Given the description of an element on the screen output the (x, y) to click on. 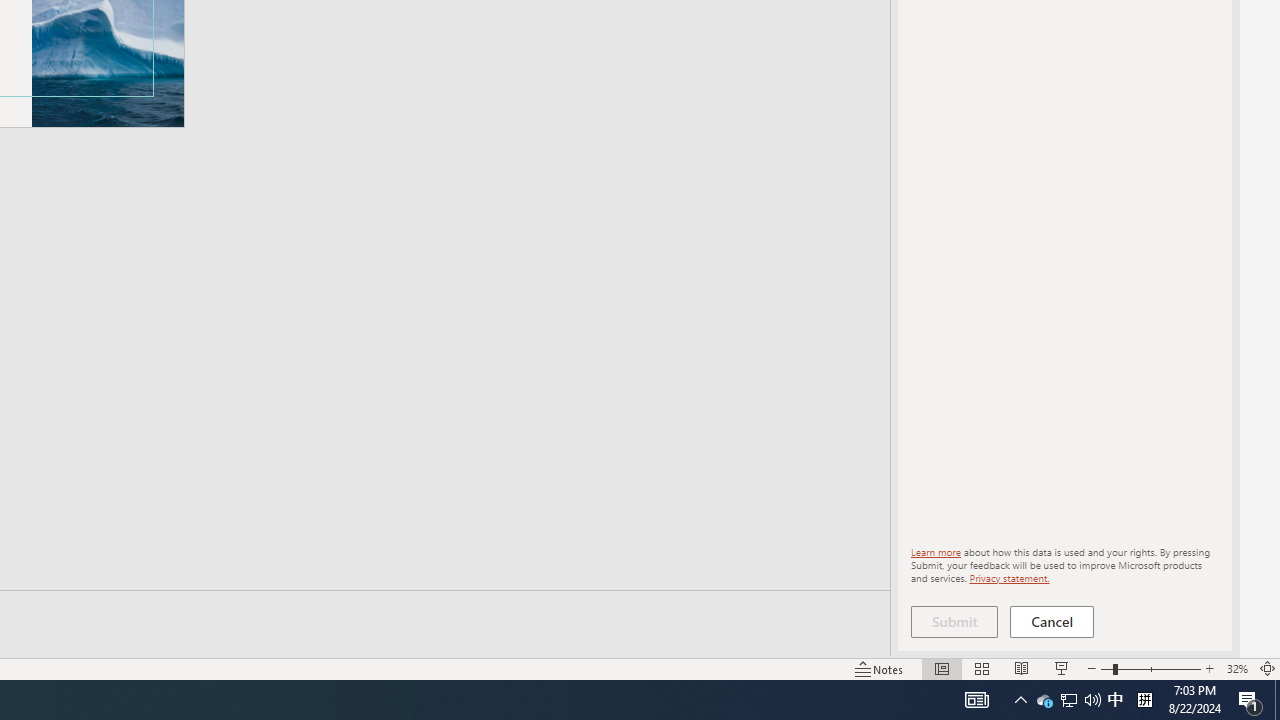
Zoom (1150, 668)
Reading View (1021, 668)
Slide Show (1061, 668)
Learn more (936, 551)
Slide Sorter (982, 668)
Zoom to Fit  (1267, 668)
Normal (941, 668)
Submit (954, 621)
Cancel (1051, 621)
Zoom 32% (1236, 668)
Zoom In (1209, 668)
Privacy statement. (1008, 577)
Zoom Out (1106, 668)
Notes  (879, 668)
